Given the description of an element on the screen output the (x, y) to click on. 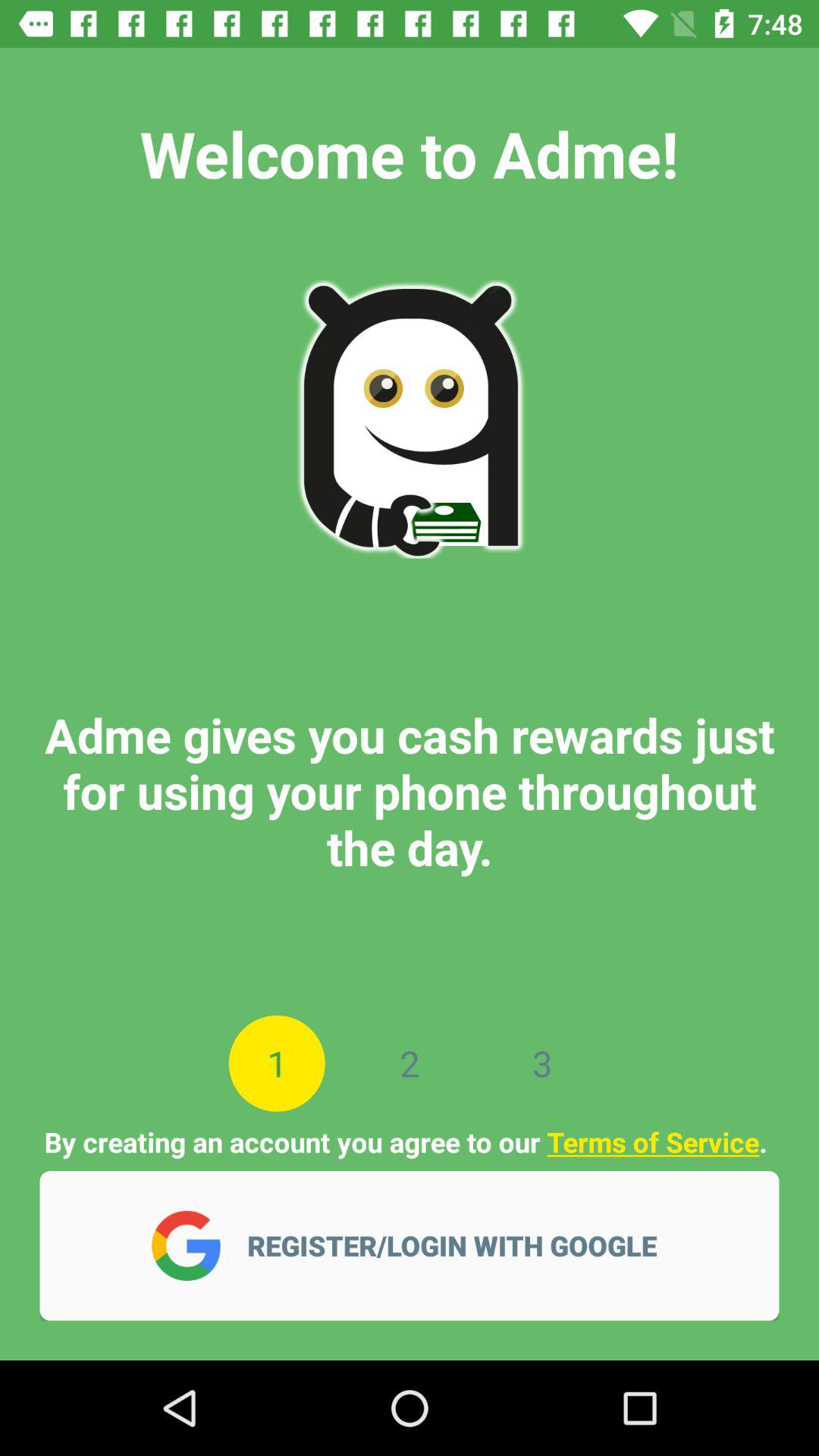
choose the icon below adme gives you item (542, 1063)
